Given the description of an element on the screen output the (x, y) to click on. 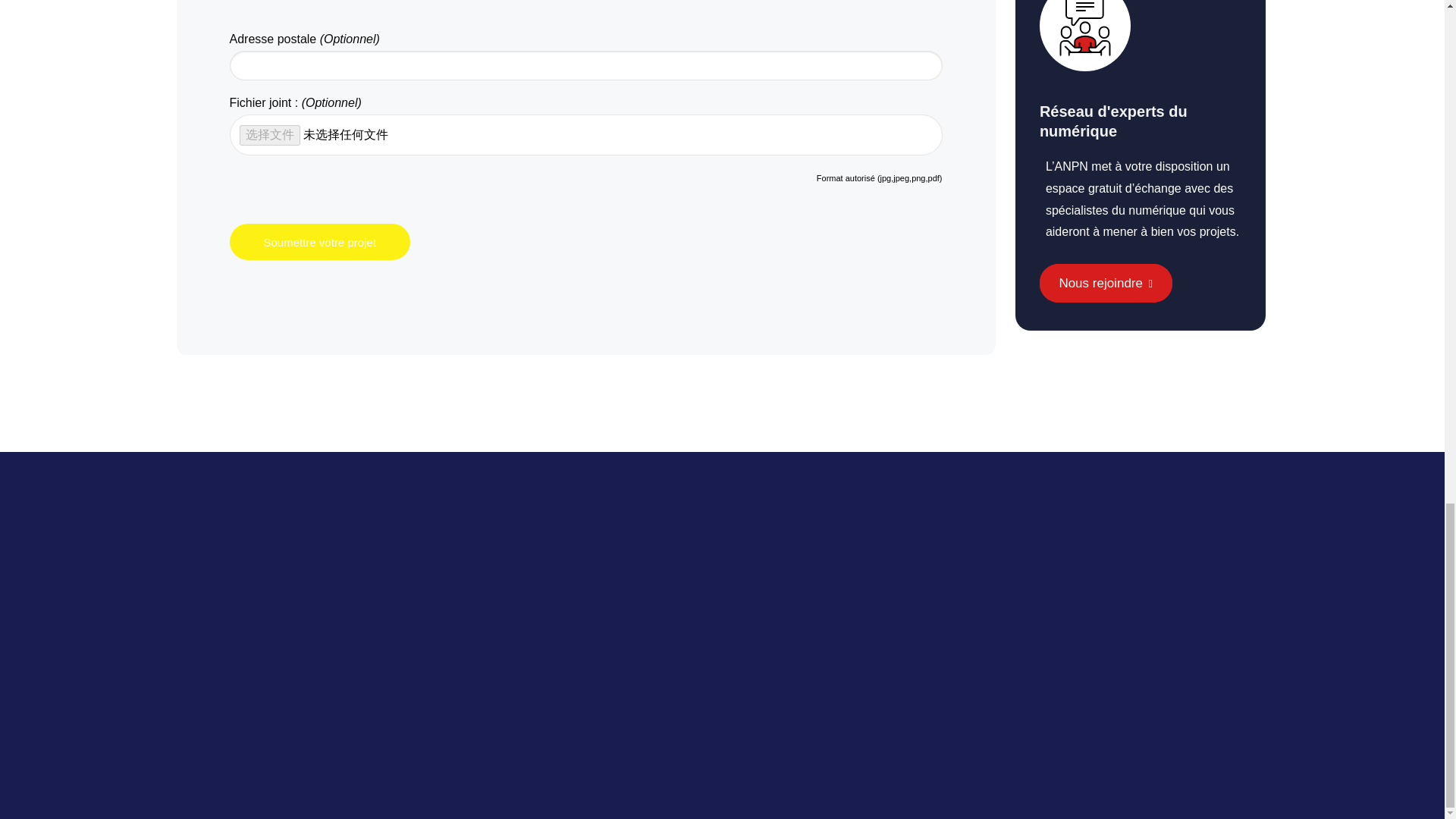
Soumettre votre projet (318, 241)
Nous rejoindre (1105, 282)
Soumettre votre projet (318, 241)
Nous rejoindre (1105, 282)
